Given the description of an element on the screen output the (x, y) to click on. 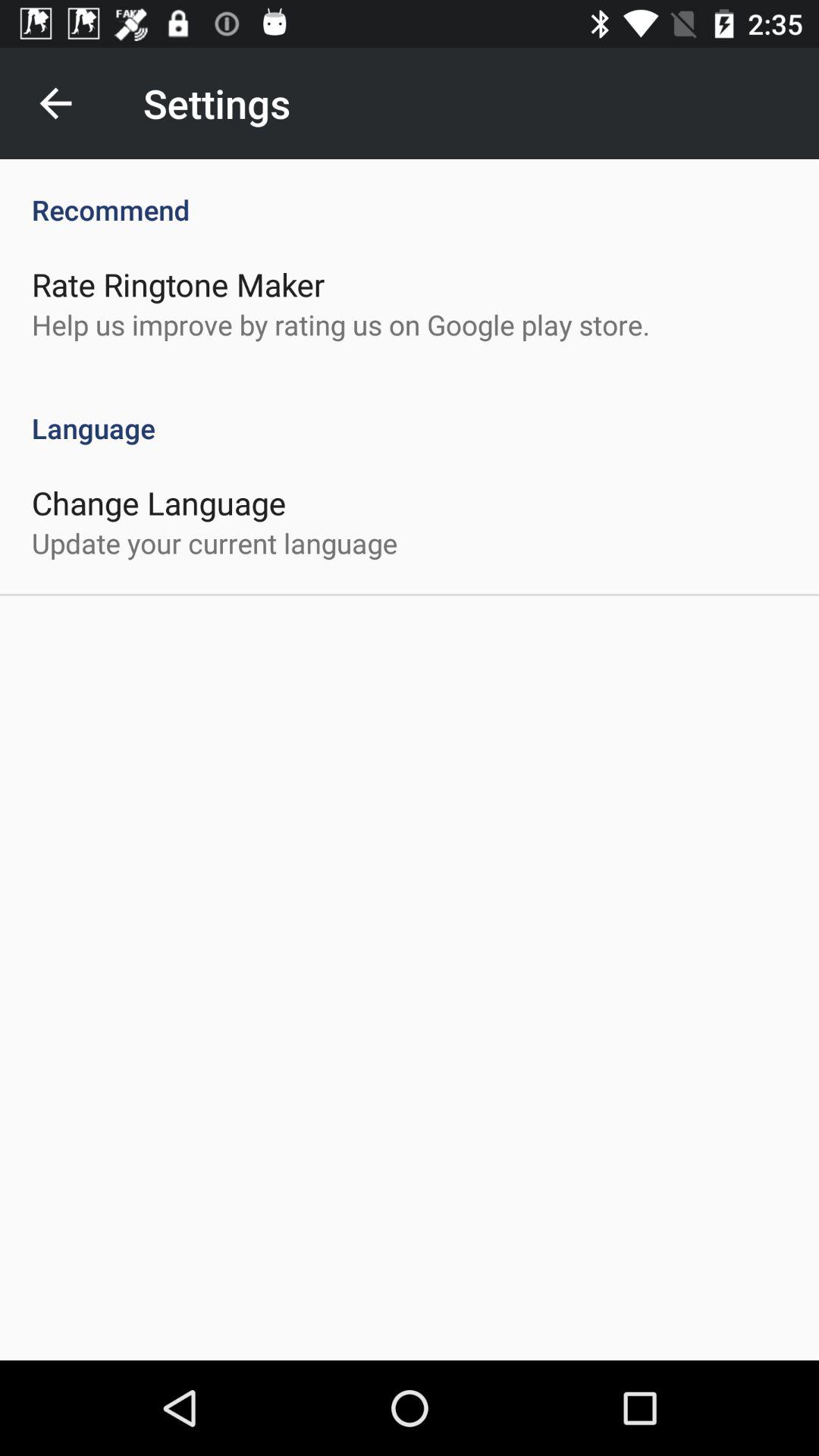
turn on the item next to the settings (55, 103)
